Given the description of an element on the screen output the (x, y) to click on. 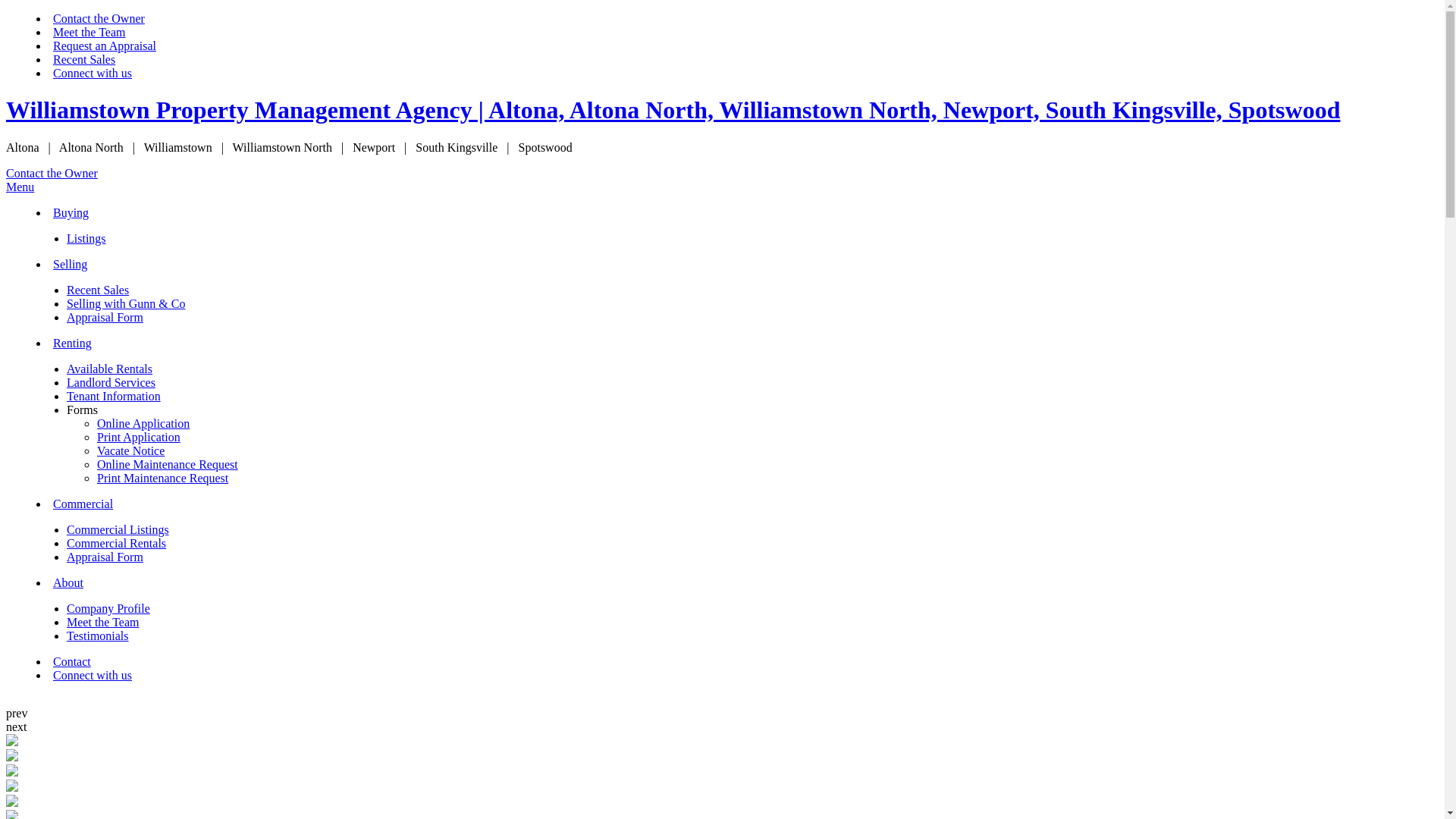
Connect with us Element type: text (92, 674)
Print Maintenance Request Element type: text (162, 477)
Listings Element type: text (86, 238)
Appraisal Form Element type: text (104, 556)
Tenant Information Element type: text (113, 395)
Available Rentals Element type: text (109, 368)
Appraisal Form Element type: text (104, 316)
Forms Element type: text (81, 409)
Selling Element type: text (70, 263)
Meet the Team Element type: text (102, 621)
Vacate Notice Element type: text (130, 450)
Contact Element type: text (72, 661)
Print Application Element type: text (138, 436)
Buying Element type: text (70, 212)
Renting Element type: text (72, 342)
Landlord Services Element type: text (110, 382)
Meet the Team Element type: text (89, 31)
Connect with us Element type: text (92, 72)
Selling with Gunn & Co Element type: text (125, 303)
Commercial Element type: text (82, 503)
Menu Element type: text (20, 186)
Recent Sales Element type: text (97, 289)
Company Profile Element type: text (108, 608)
Commercial Listings Element type: text (117, 529)
Online Maintenance Request Element type: text (167, 464)
Request an Appraisal Element type: text (104, 45)
Testimonials Element type: text (97, 635)
Online Application Element type: text (143, 423)
Contact the Owner Element type: text (98, 18)
About Element type: text (68, 582)
Commercial Rentals Element type: text (116, 542)
Contact the Owner Element type: text (51, 172)
Recent Sales Element type: text (84, 59)
